Given the description of an element on the screen output the (x, y) to click on. 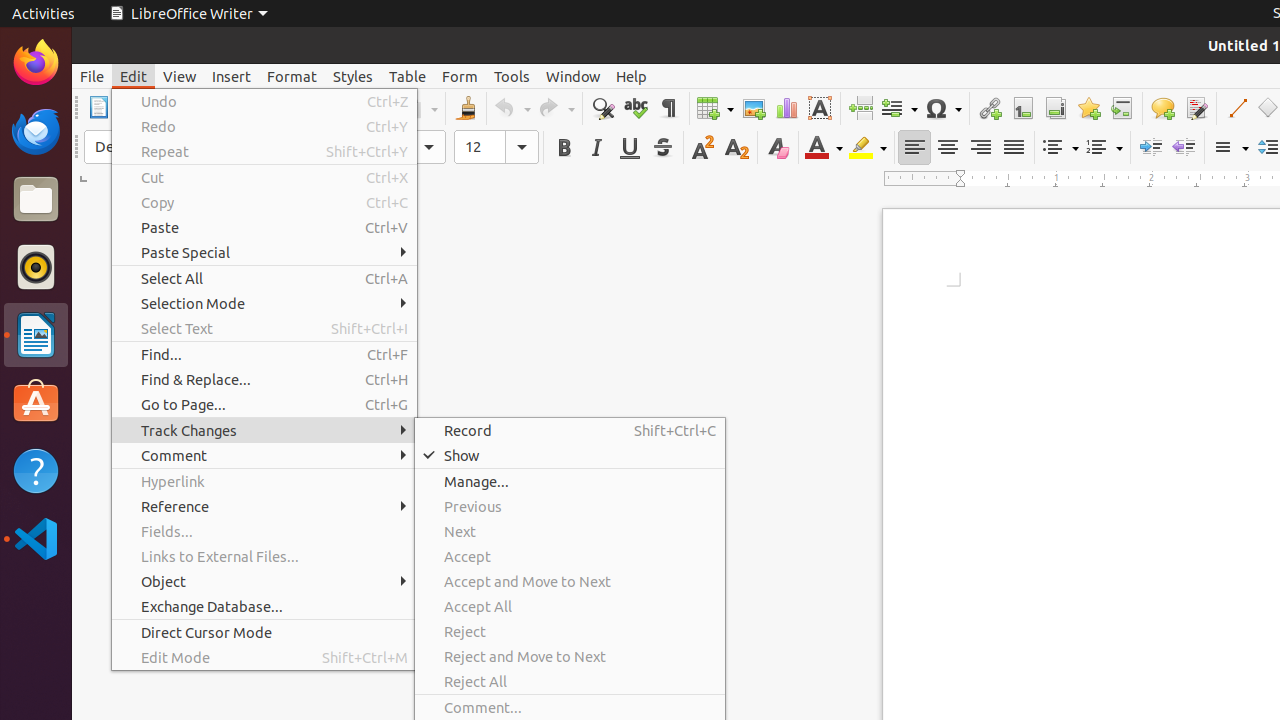
Comment... Element type: menu-item (570, 707)
Underline Element type: push-button (629, 147)
Formatting Marks Element type: toggle-button (668, 108)
Left Element type: toggle-button (914, 147)
Comment Element type: menu (264, 455)
